Given the description of an element on the screen output the (x, y) to click on. 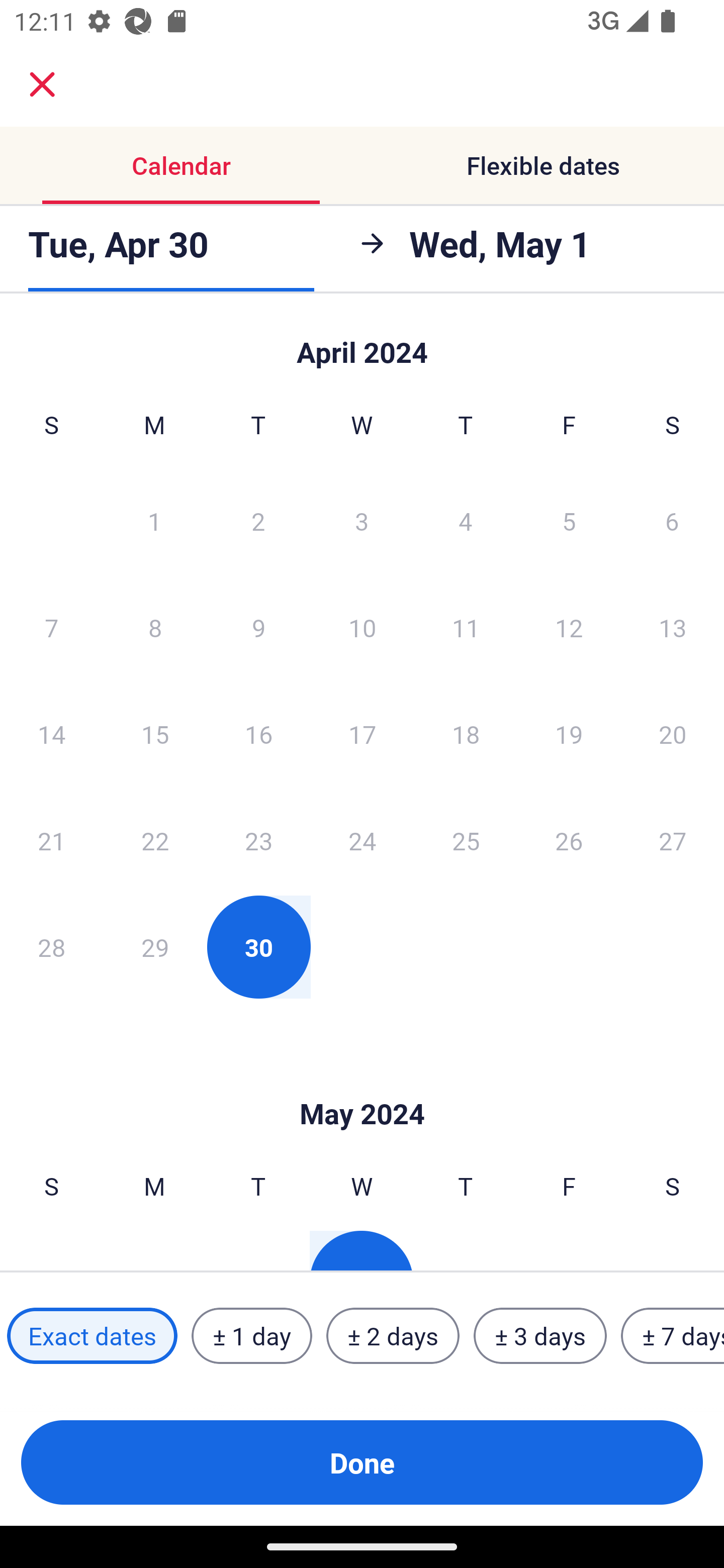
close. (42, 84)
Flexible dates (542, 164)
Skip to Done (362, 343)
1 Monday, April 1, 2024 (154, 520)
2 Tuesday, April 2, 2024 (257, 520)
3 Wednesday, April 3, 2024 (361, 520)
4 Thursday, April 4, 2024 (465, 520)
5 Friday, April 5, 2024 (568, 520)
6 Saturday, April 6, 2024 (672, 520)
7 Sunday, April 7, 2024 (51, 626)
8 Monday, April 8, 2024 (155, 626)
9 Tuesday, April 9, 2024 (258, 626)
10 Wednesday, April 10, 2024 (362, 626)
11 Thursday, April 11, 2024 (465, 626)
12 Friday, April 12, 2024 (569, 626)
13 Saturday, April 13, 2024 (672, 626)
14 Sunday, April 14, 2024 (51, 733)
15 Monday, April 15, 2024 (155, 733)
16 Tuesday, April 16, 2024 (258, 733)
17 Wednesday, April 17, 2024 (362, 733)
18 Thursday, April 18, 2024 (465, 733)
19 Friday, April 19, 2024 (569, 733)
20 Saturday, April 20, 2024 (672, 733)
21 Sunday, April 21, 2024 (51, 840)
22 Monday, April 22, 2024 (155, 840)
23 Tuesday, April 23, 2024 (258, 840)
24 Wednesday, April 24, 2024 (362, 840)
25 Thursday, April 25, 2024 (465, 840)
26 Friday, April 26, 2024 (569, 840)
27 Saturday, April 27, 2024 (672, 840)
28 Sunday, April 28, 2024 (51, 946)
29 Monday, April 29, 2024 (155, 946)
Skip to Done (362, 1083)
Exact dates (92, 1335)
± 1 day (251, 1335)
± 2 days (392, 1335)
± 3 days (539, 1335)
± 7 days (672, 1335)
Done (361, 1462)
